Given the description of an element on the screen output the (x, y) to click on. 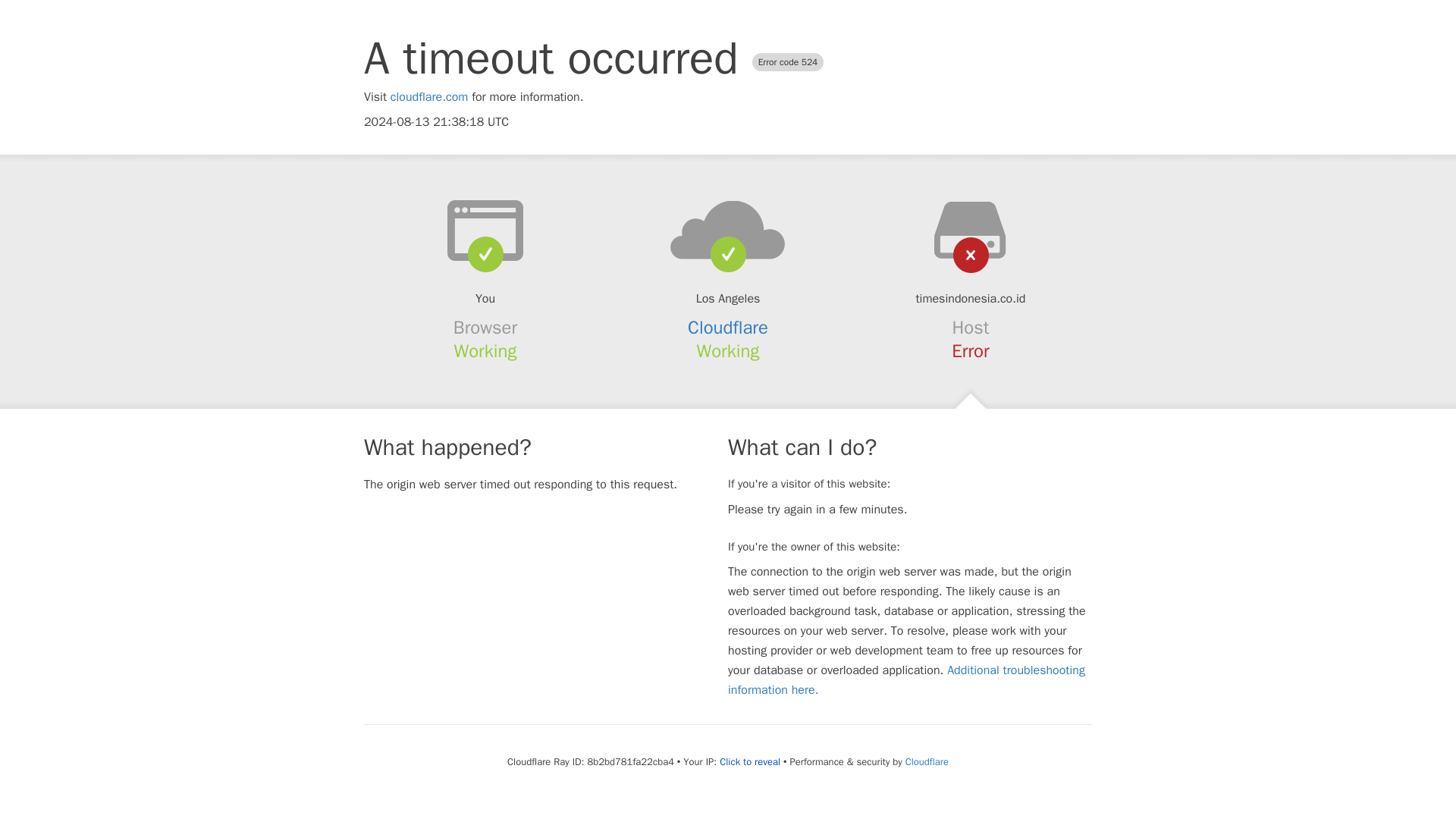
Click to reveal (749, 762)
Cloudflare (727, 327)
cloudflare.com (429, 96)
Cloudflare (927, 761)
Additional troubleshooting information here. (906, 679)
